Given the description of an element on the screen output the (x, y) to click on. 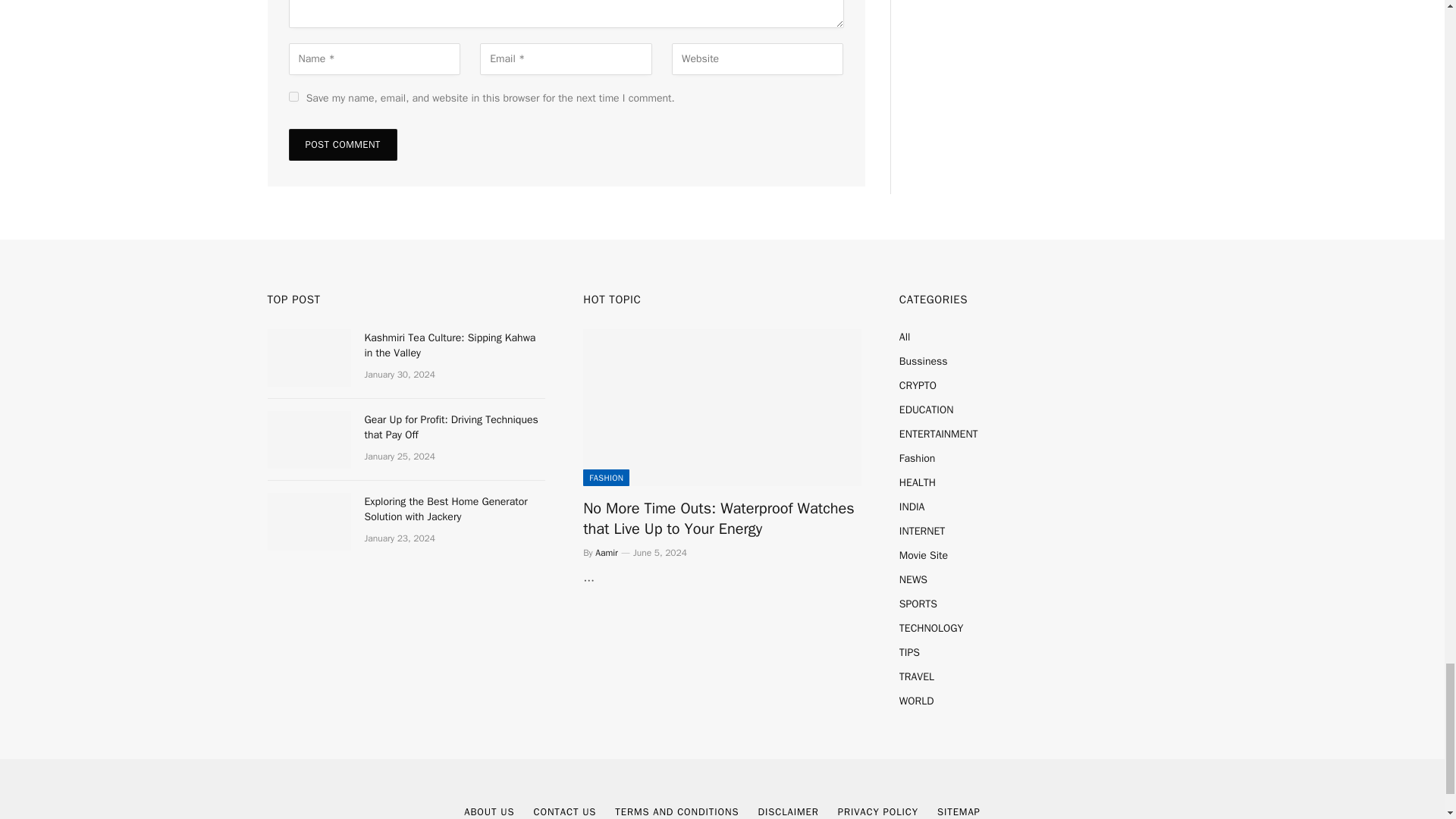
Post Comment (342, 144)
yes (293, 96)
